Given the description of an element on the screen output the (x, y) to click on. 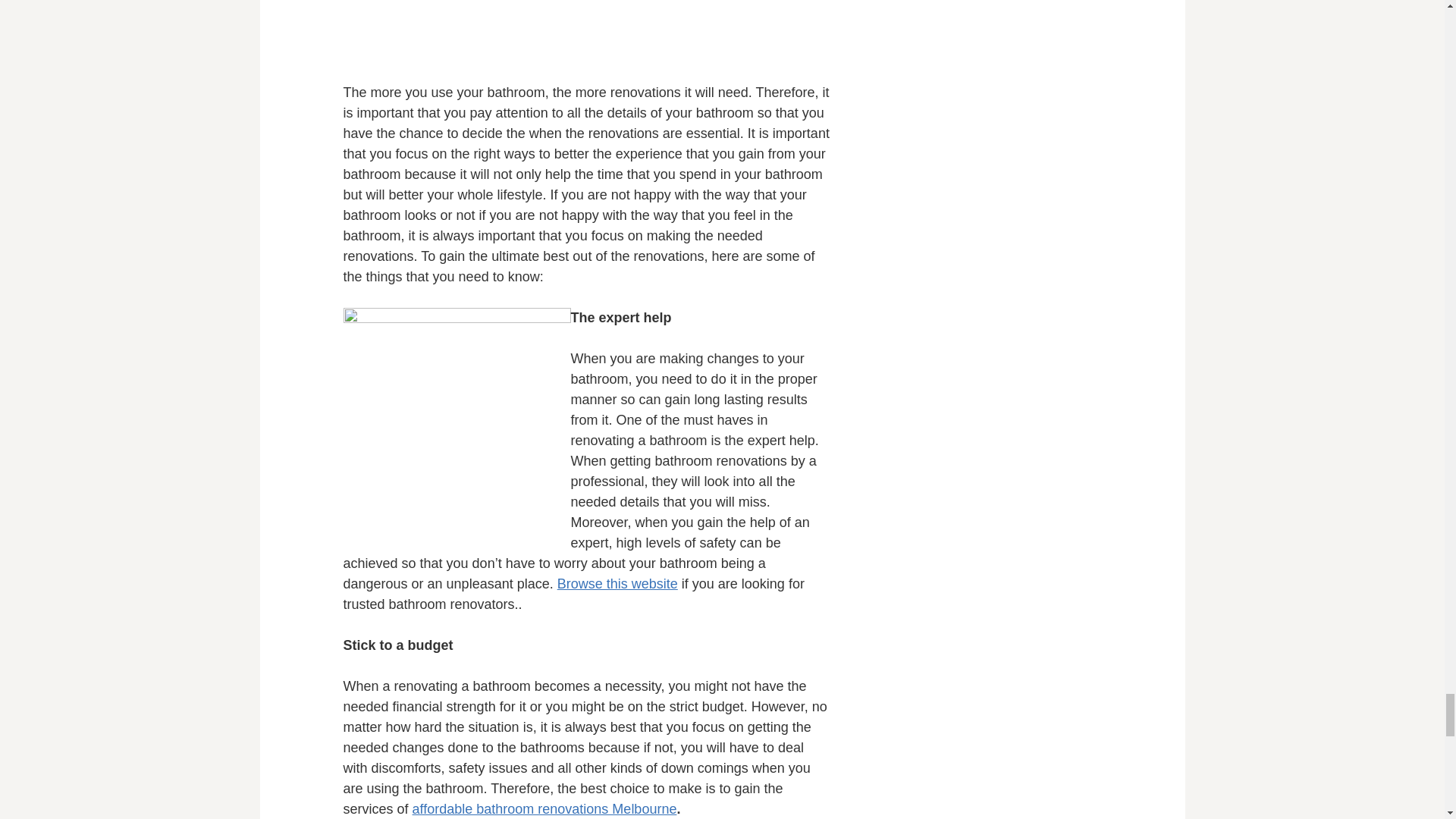
small-bathroom-designs.jpg (456, 421)
